Given the description of an element on the screen output the (x, y) to click on. 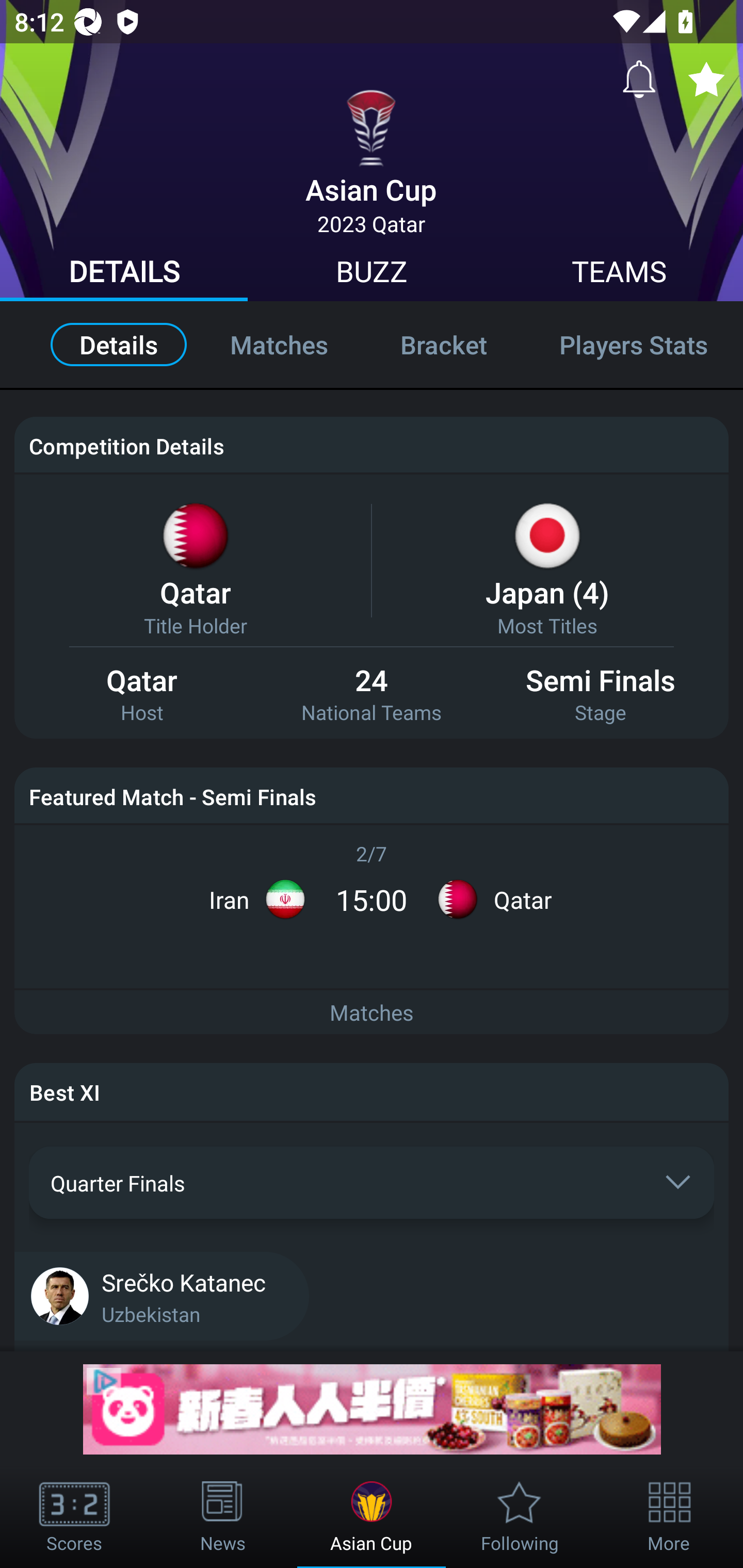
DETAILS (123, 274)
BUZZ (371, 274)
TEAMS (619, 274)
Matches (278, 344)
Bracket (443, 344)
Players Stats (633, 344)
Qatar (195, 591)
Japan (4) (547, 591)
Title Holder (195, 625)
Most Titles (547, 625)
24 National Teams (371, 694)
Semi Finals Stage (600, 694)
2/7 Iran 15:00 Qatar (371, 885)
Matches (371, 1012)
Quarter Finals (371, 1182)
Srečko Katanec Uzbekistan (371, 1294)
mg0gkqli_320x50 (371, 1409)
Scores (74, 1517)
News (222, 1517)
Following (519, 1517)
More (668, 1517)
